Given the description of an element on the screen output the (x, y) to click on. 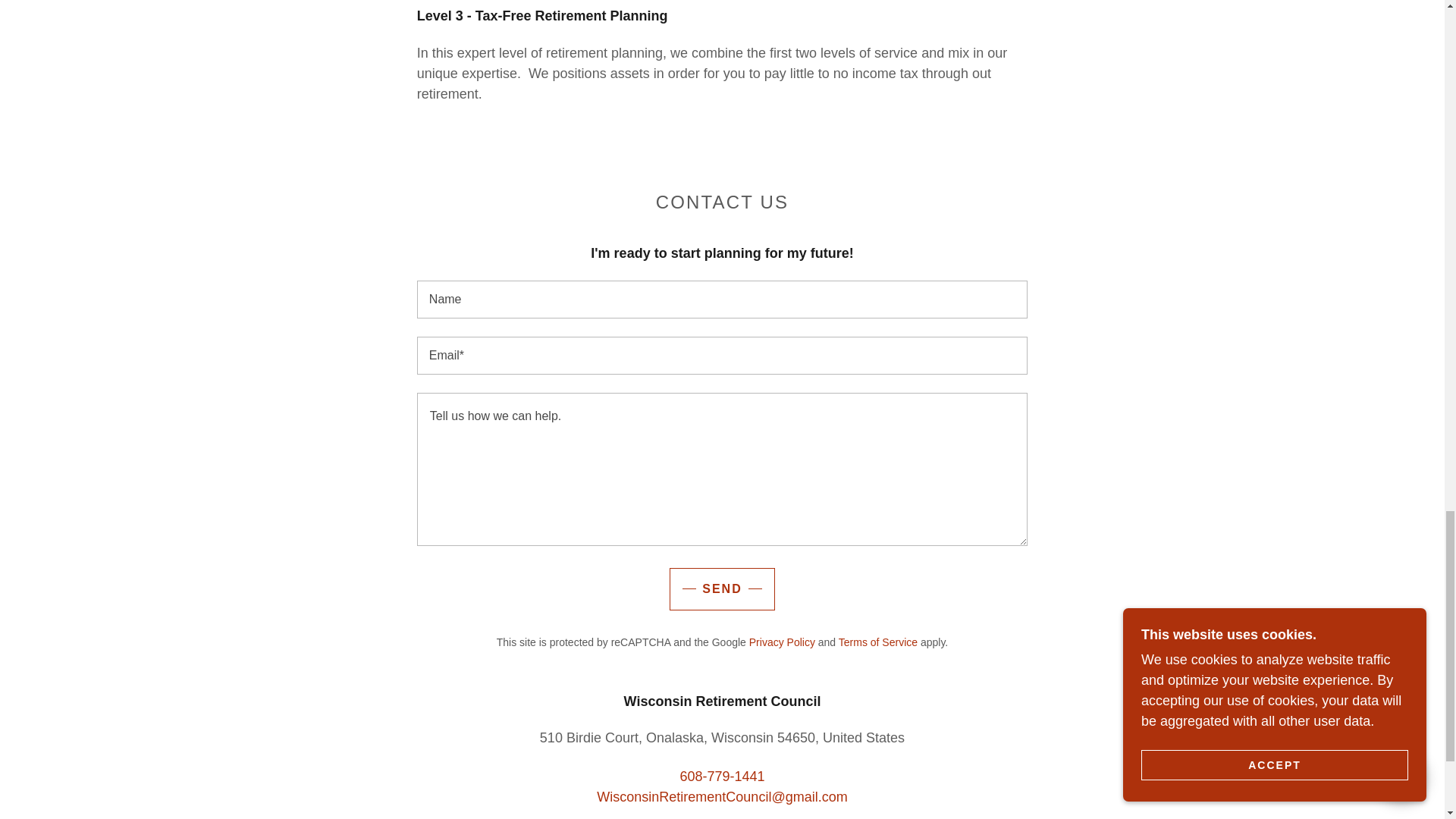
Privacy Policy (782, 642)
SEND (721, 589)
Terms of Service (877, 642)
608-779-1441 (721, 776)
